Given the description of an element on the screen output the (x, y) to click on. 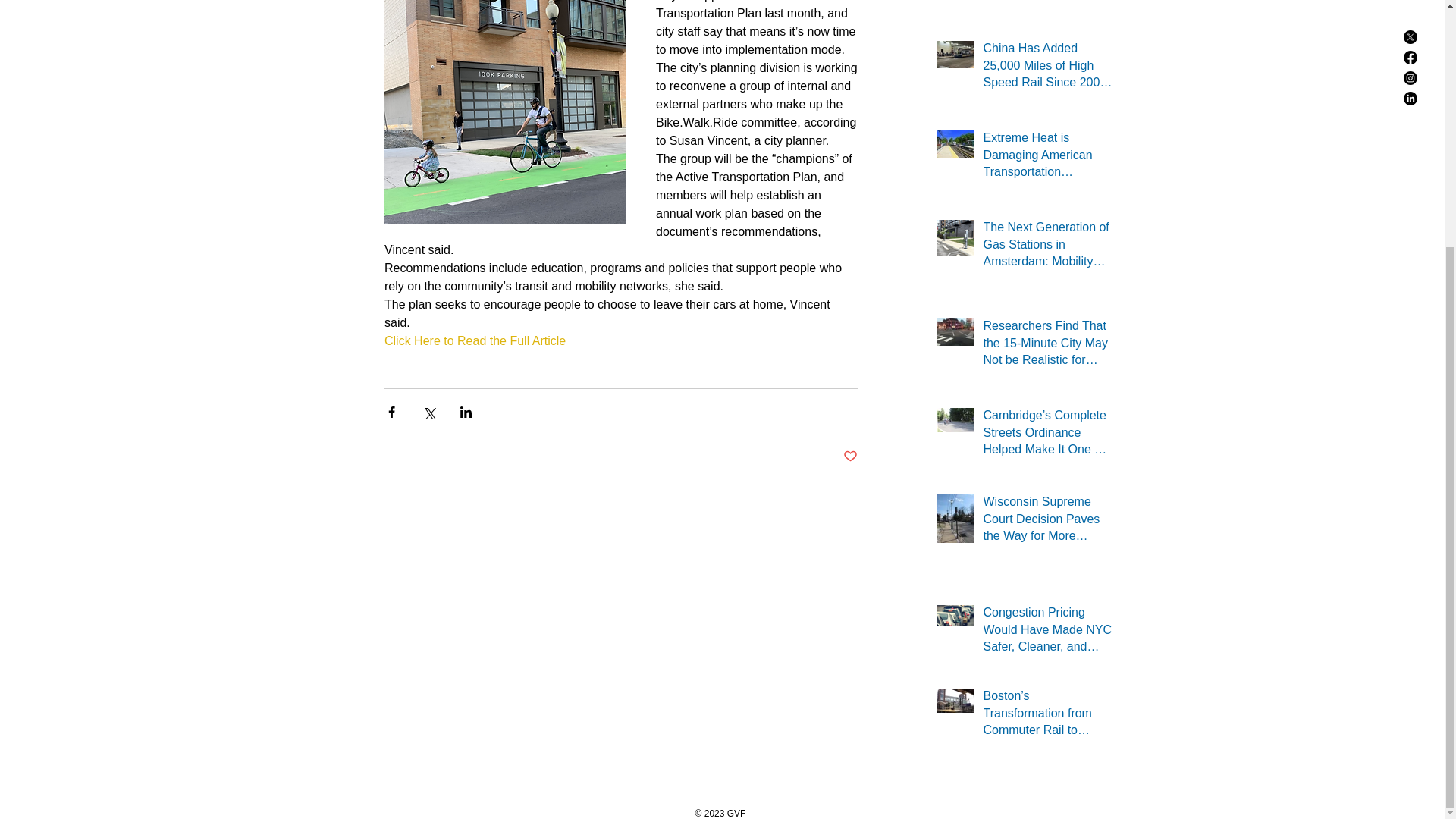
Post not marked as liked (850, 456)
Click Here to Read the Full Article (474, 340)
